Given the description of an element on the screen output the (x, y) to click on. 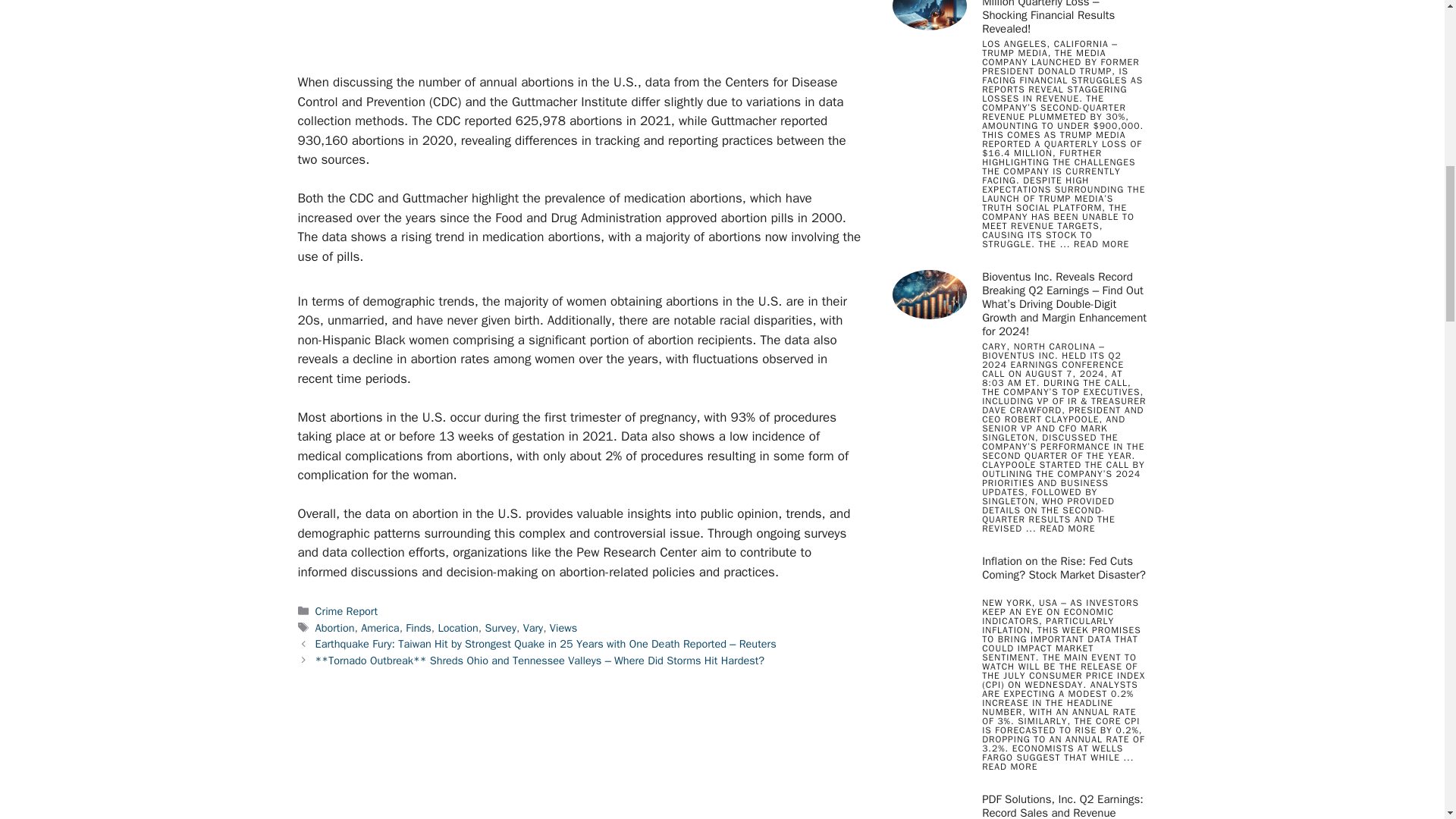
Location (457, 627)
Views (563, 627)
Abortion (335, 627)
Crime Report (346, 611)
Advertisement (600, 33)
READ MORE (1101, 244)
Survey (500, 627)
READ MORE (1008, 766)
